Given the description of an element on the screen output the (x, y) to click on. 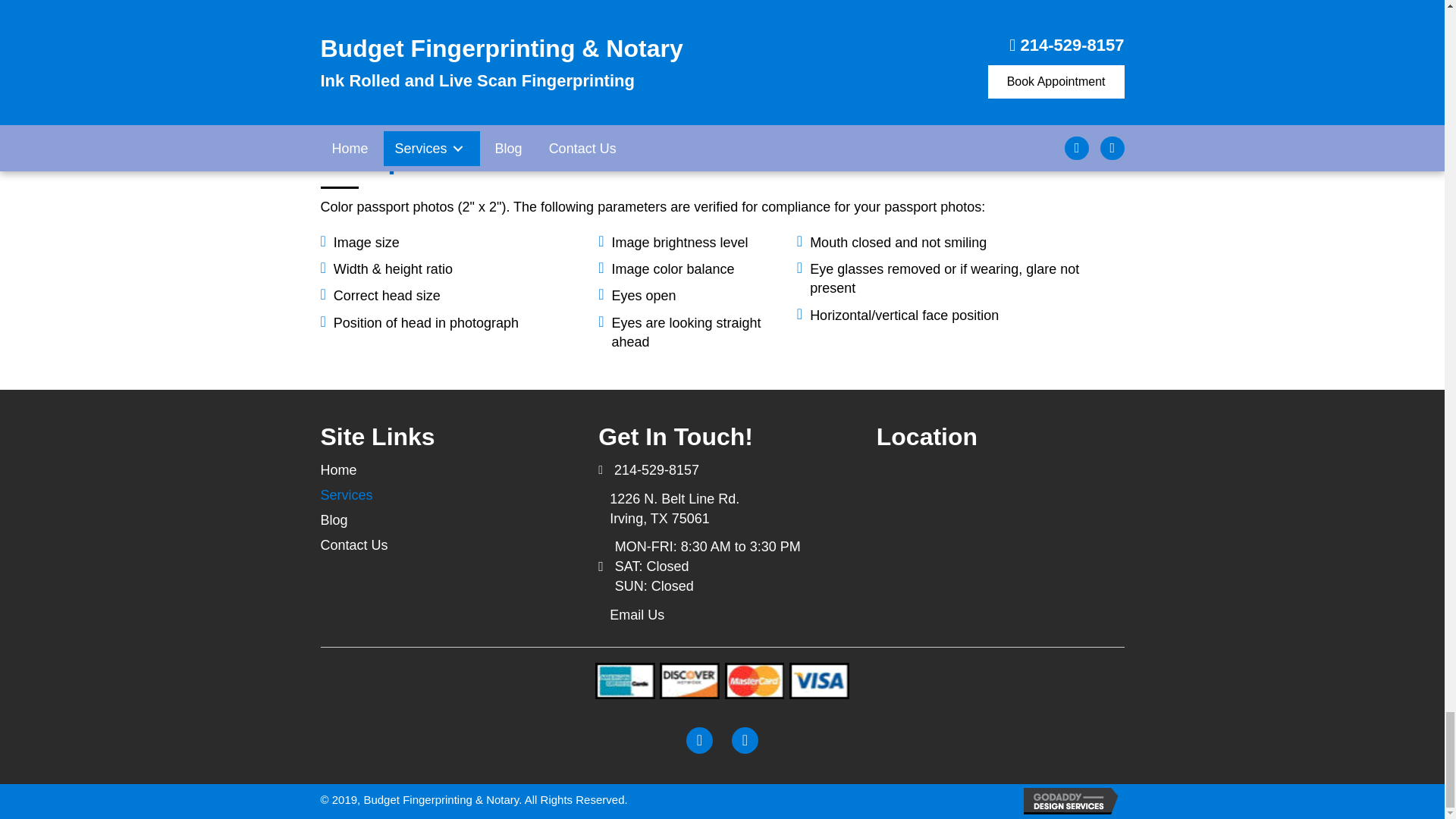
Services (346, 494)
214-529-8157 (656, 469)
Contact Us (353, 545)
Blog (333, 519)
Email Us (636, 614)
Home (338, 469)
